Given the description of an element on the screen output the (x, y) to click on. 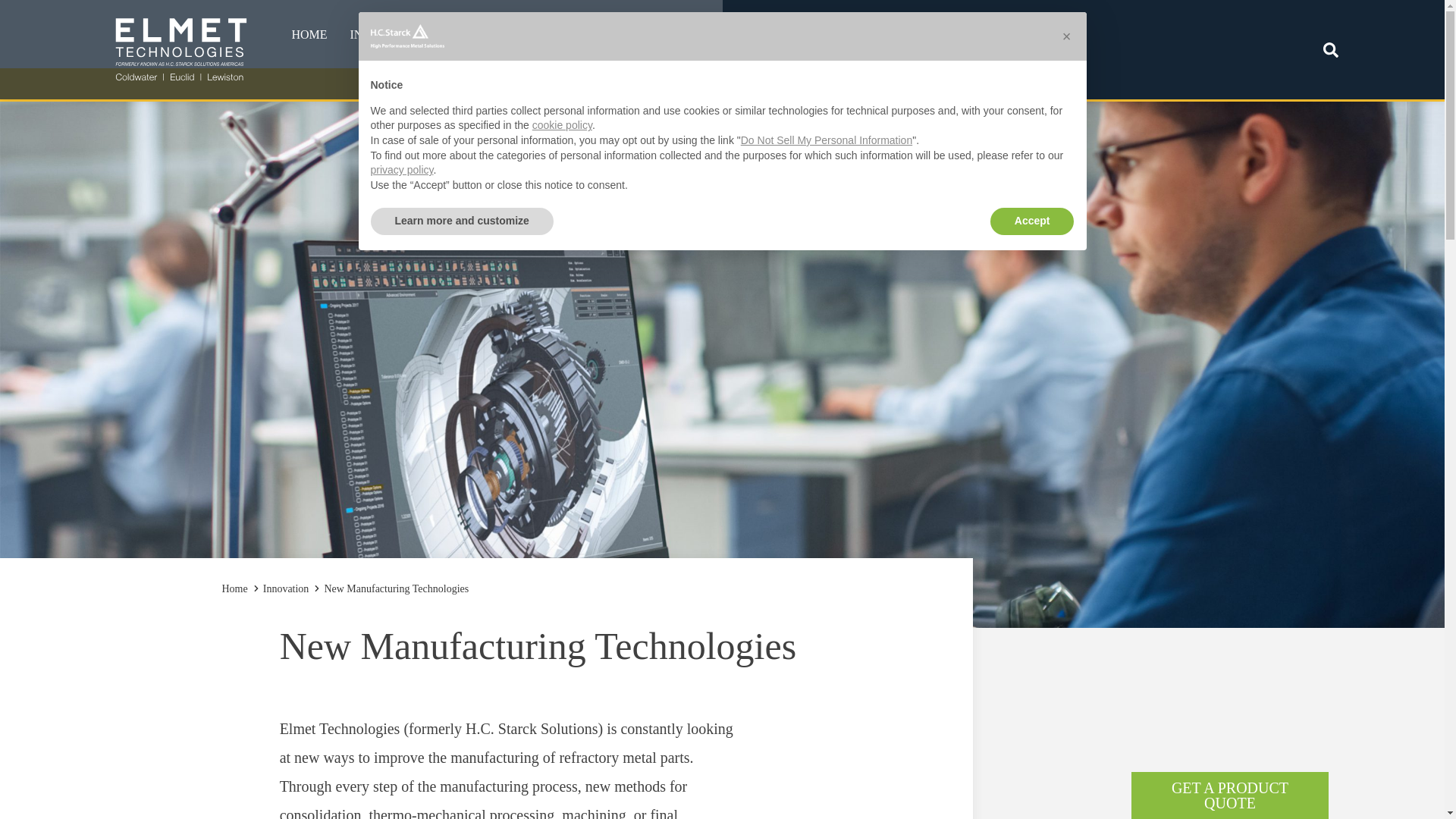
INDUSTRIES (388, 34)
PRODUCTS BY MATERIAL (526, 70)
PRODUCTS BY FABRICATION (526, 72)
GET A PRODUCT QUOTE (1229, 795)
CAREERS (866, 34)
INNOVATION (960, 34)
ELECTRONICS (449, 69)
HOME (308, 34)
ABOUT US (778, 34)
SERVICES (571, 34)
MATERIALS (661, 34)
MEDICAL (449, 70)
PRODUCTS BY INDUSTRY (526, 70)
PRODUCTS BY APPLICATION (526, 71)
